Given the description of an element on the screen output the (x, y) to click on. 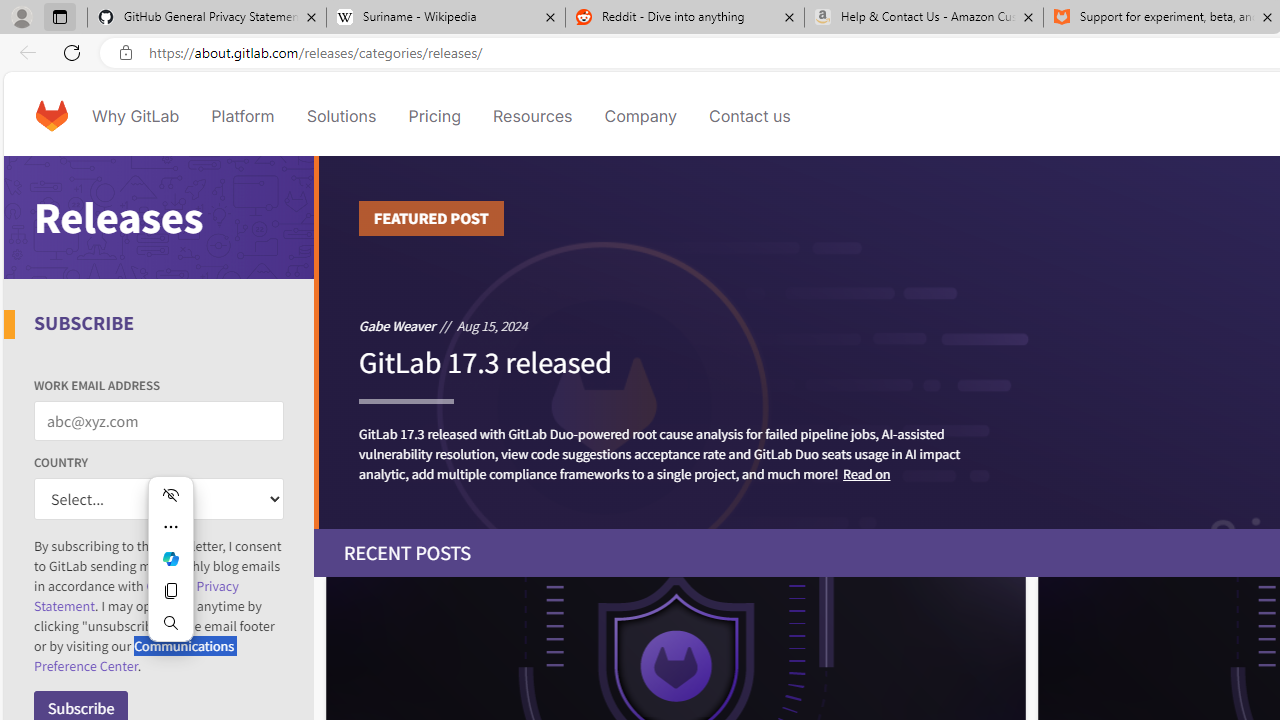
Hide menu (170, 494)
Solutions (341, 115)
Why GitLab (136, 115)
Communications Preference Center (134, 656)
Company (640, 115)
More actions (170, 526)
Why GitLab (136, 115)
Contact us (749, 115)
Help & Contact Us - Amazon Customer Service - Sleeping (924, 17)
Platform (242, 115)
Read on (866, 472)
Reddit - Dive into anything (684, 17)
